Given the description of an element on the screen output the (x, y) to click on. 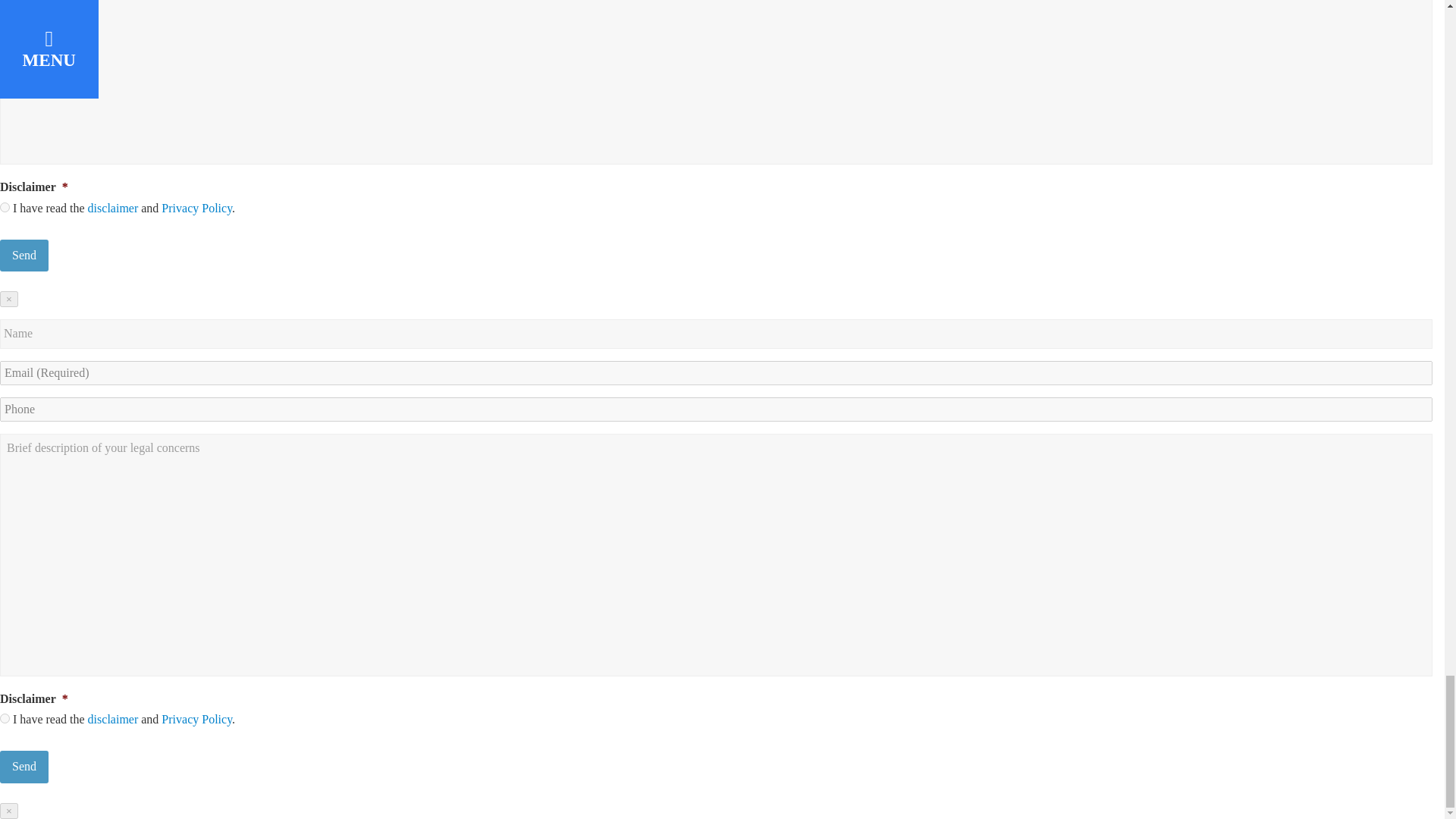
Send (24, 255)
